Given the description of an element on the screen output the (x, y) to click on. 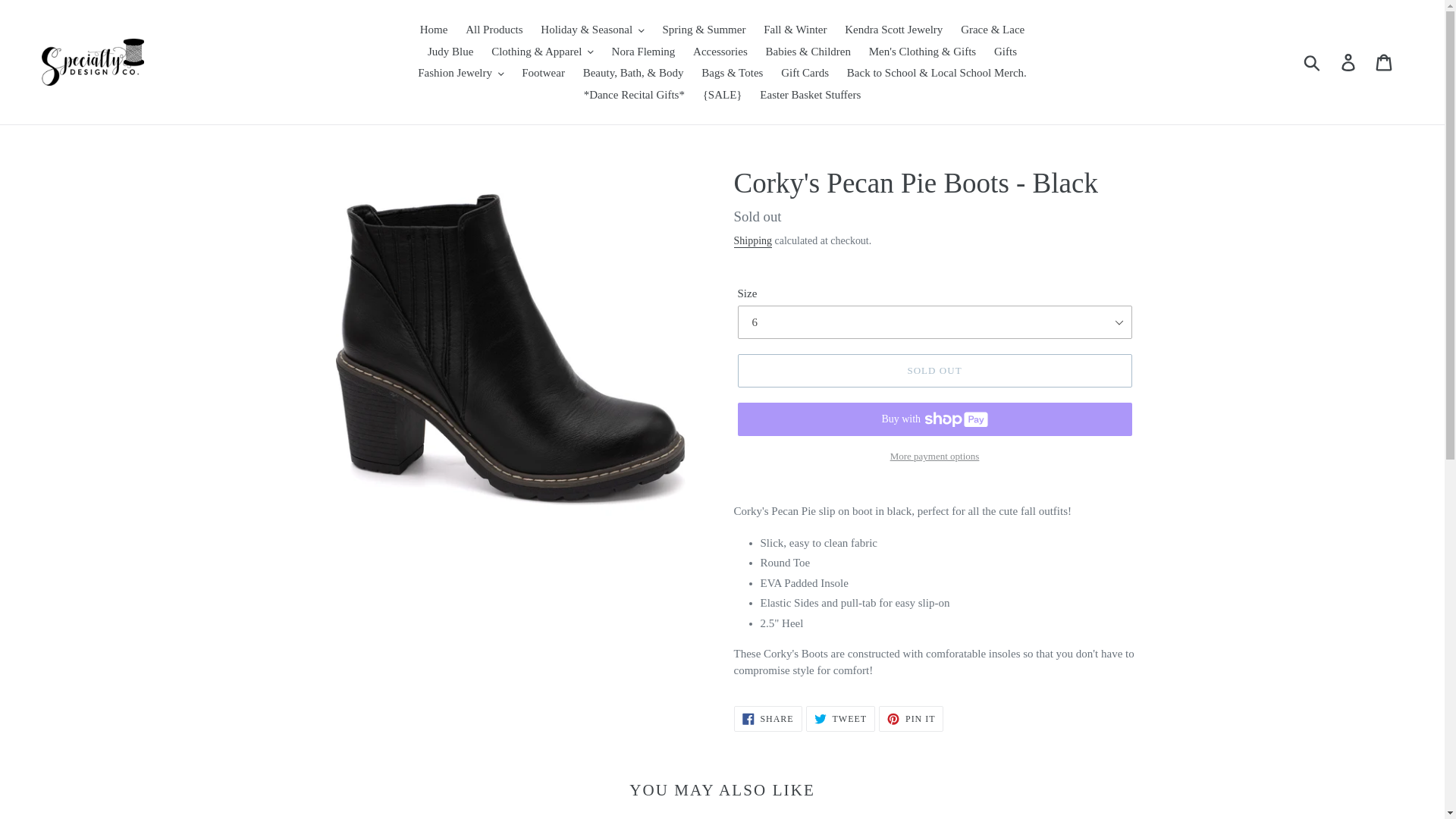
All Products (493, 29)
Nora Fleming (643, 51)
Gifts (1006, 51)
Judy Blue (450, 51)
Accessories (720, 51)
Home (433, 29)
Kendra Scott Jewelry (893, 29)
